Given the description of an element on the screen output the (x, y) to click on. 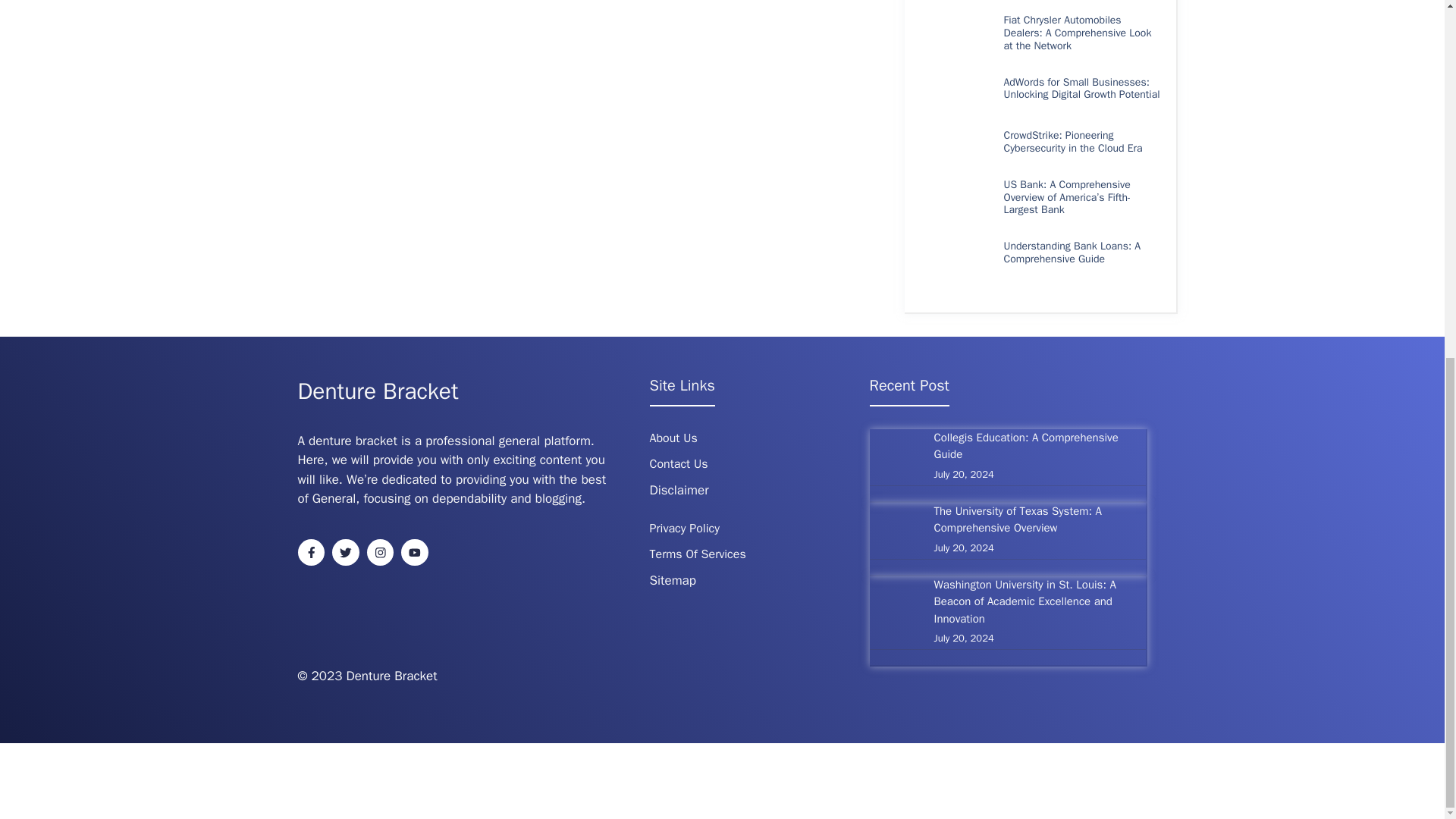
content (561, 459)
Privacy Policy (684, 528)
The University of Texas System: A Comprehensive Overview (1018, 519)
Sitemap (672, 580)
23 (334, 675)
Services (723, 554)
Site Links (681, 384)
20 (318, 675)
Us (689, 437)
Disclaimer (678, 489)
Terms (667, 554)
Collegis Education: A Comprehensive Guide (1026, 445)
blogging. (560, 498)
